Given the description of an element on the screen output the (x, y) to click on. 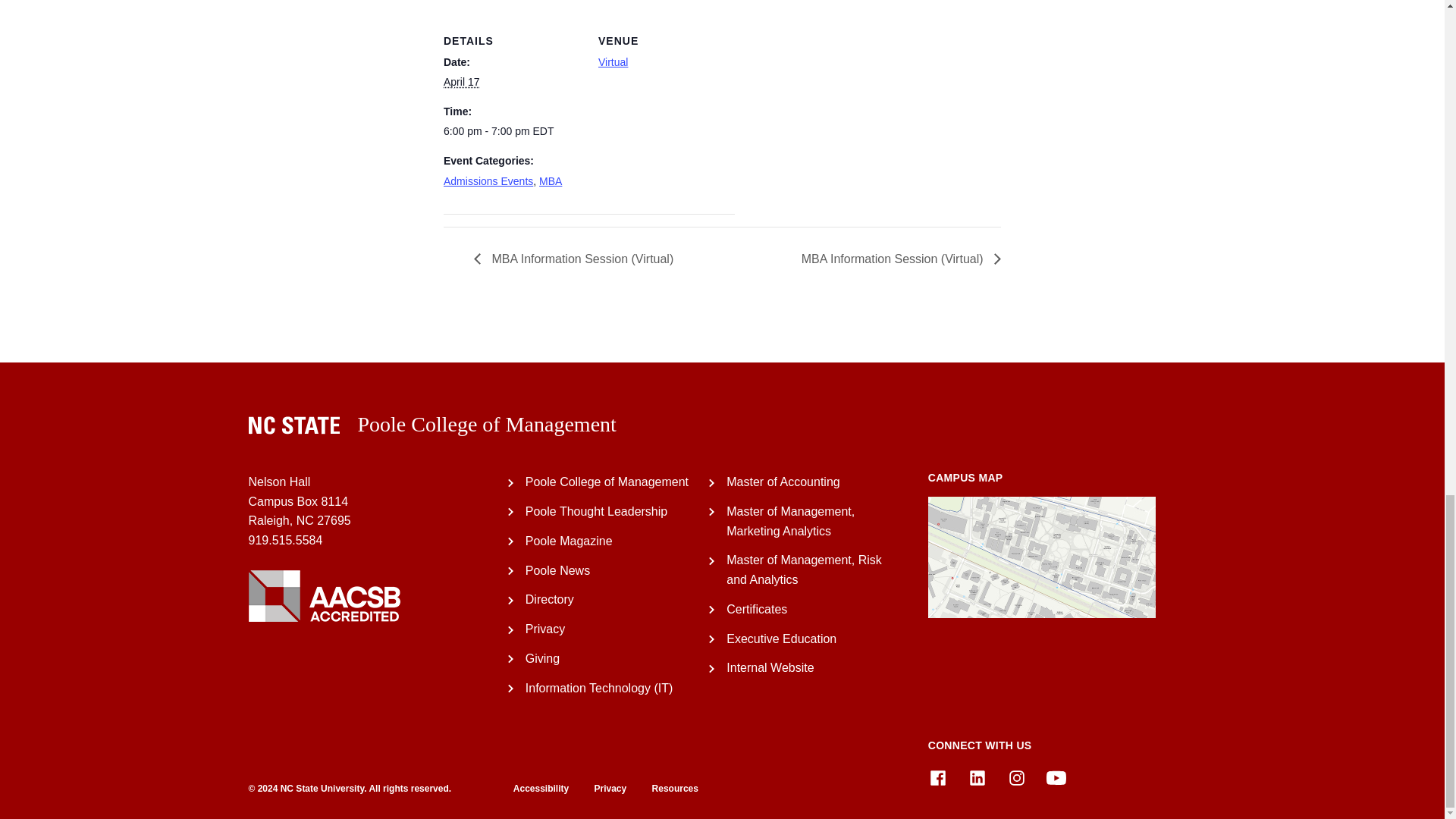
2024-04-17 (511, 130)
YouTube (1055, 777)
LinkedIn (977, 777)
Instagram (1016, 777)
2024-04-17 (461, 81)
Facebook (937, 777)
